Given the description of an element on the screen output the (x, y) to click on. 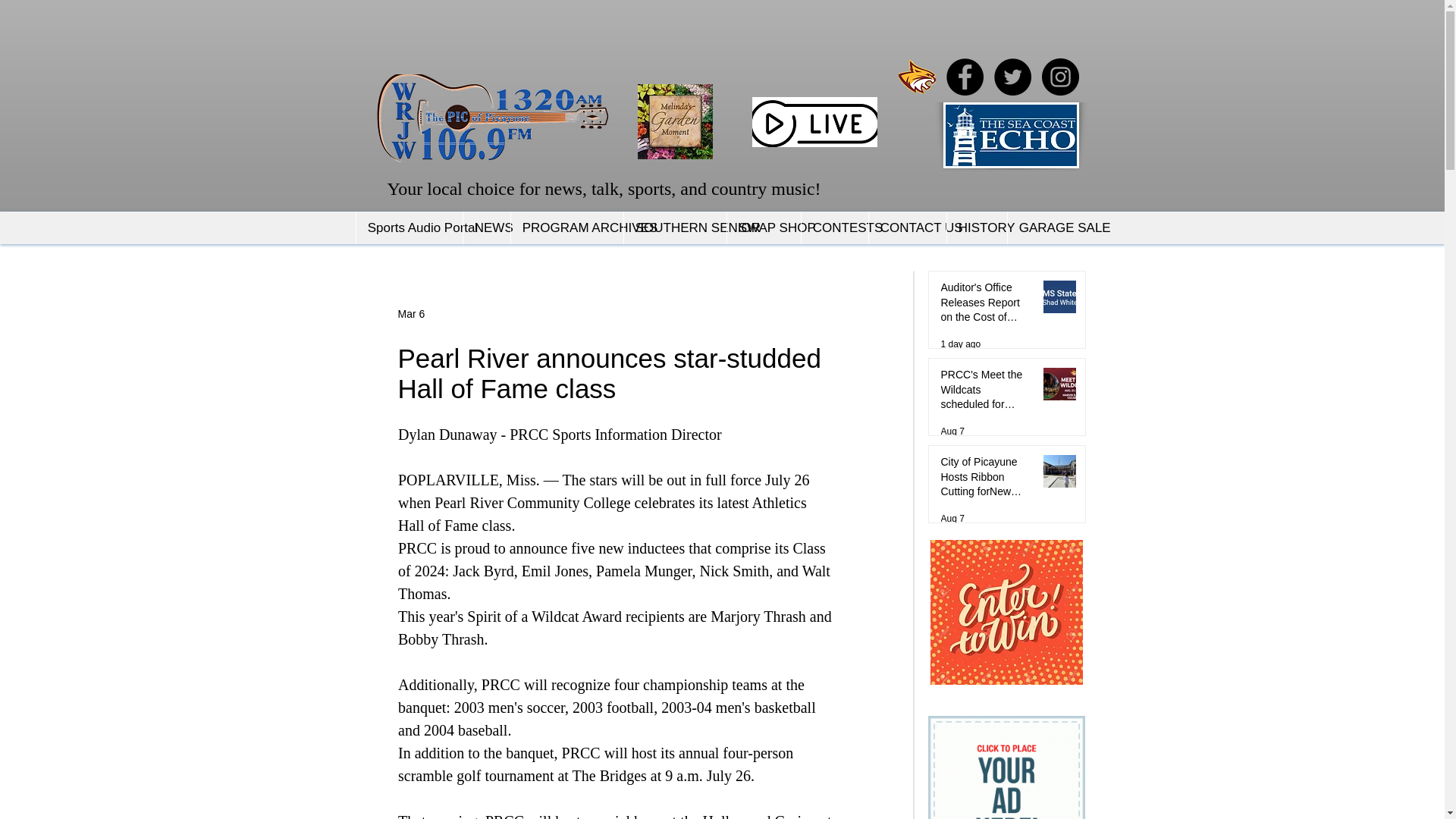
CONTACT US (906, 227)
Sports Audio Portal (409, 227)
NEWS (487, 227)
Mar 6 (411, 313)
GARAGE SALE (1048, 227)
1 day ago (959, 344)
City of Picayune Hosts Ribbon Cutting forNew Justice Center (985, 480)
HISTORY (976, 227)
PRCC's Meet the Wildcats scheduled for August 21 (985, 392)
